Given the description of an element on the screen output the (x, y) to click on. 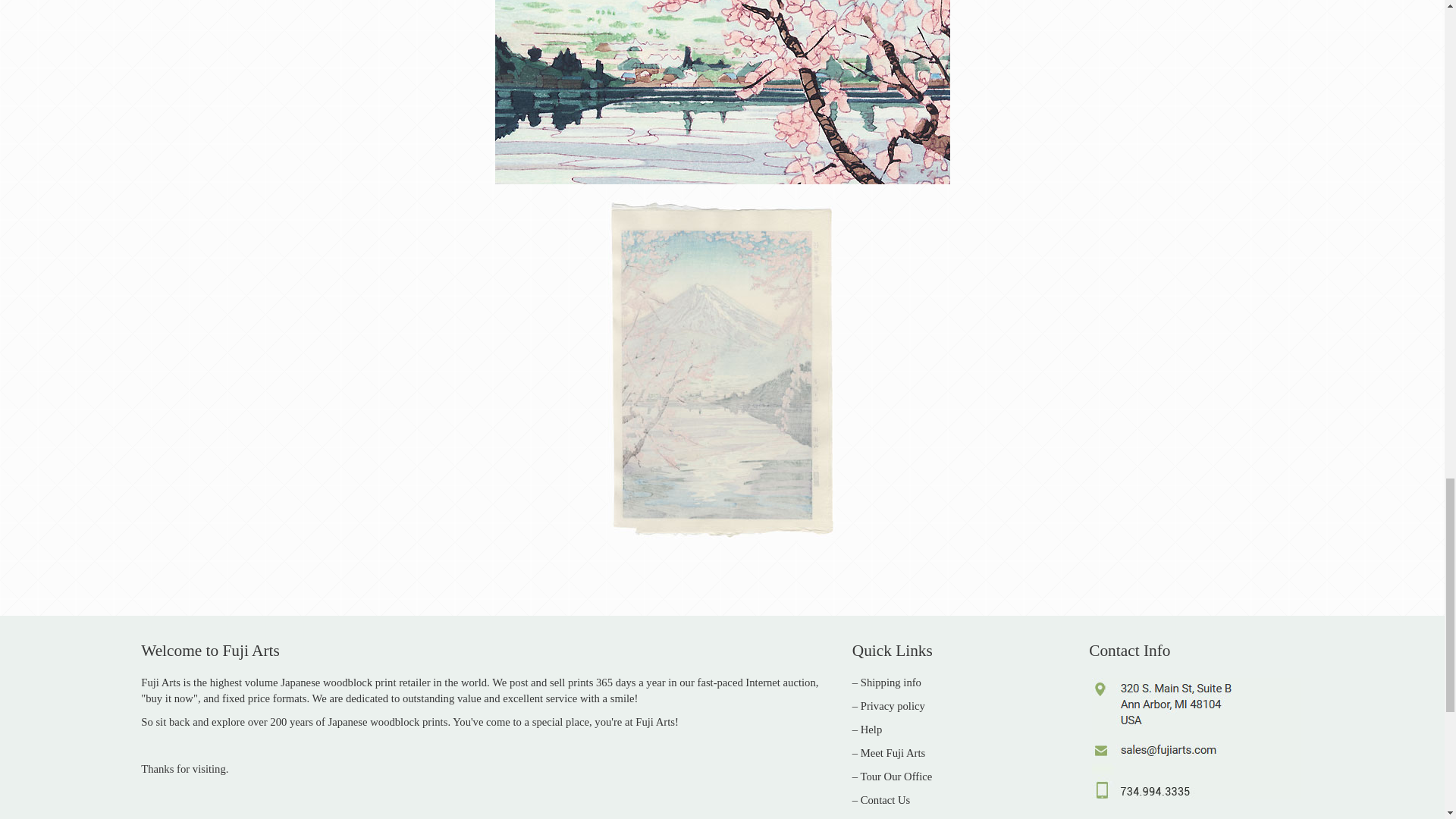
Meet Fuji Arts (893, 752)
Privacy policy (892, 705)
Tour Our Office (895, 776)
Help (871, 729)
Shipping info (890, 682)
Contact Us (885, 799)
